Given the description of an element on the screen output the (x, y) to click on. 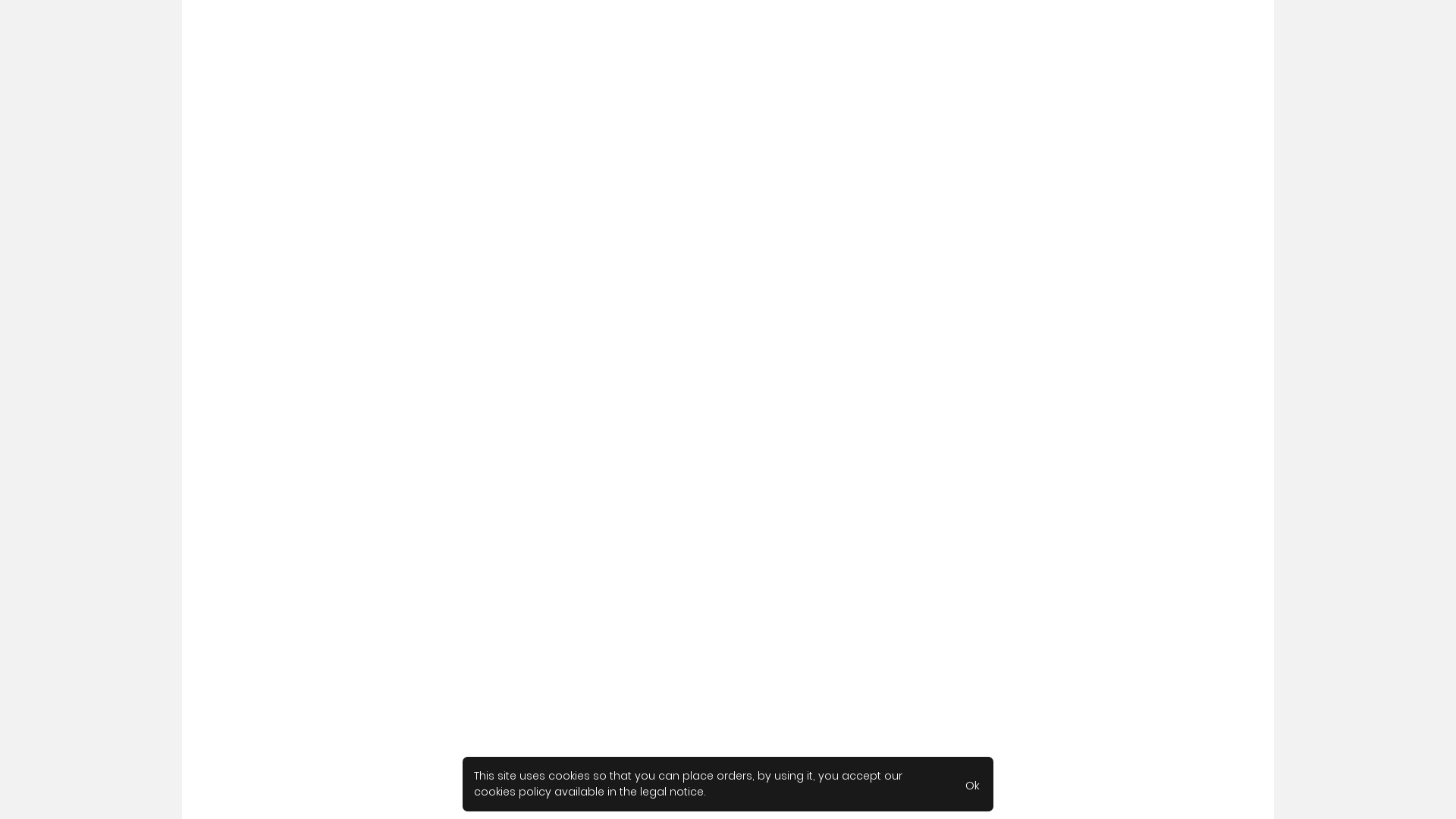
Ok Element type: text (972, 784)
